Given the description of an element on the screen output the (x, y) to click on. 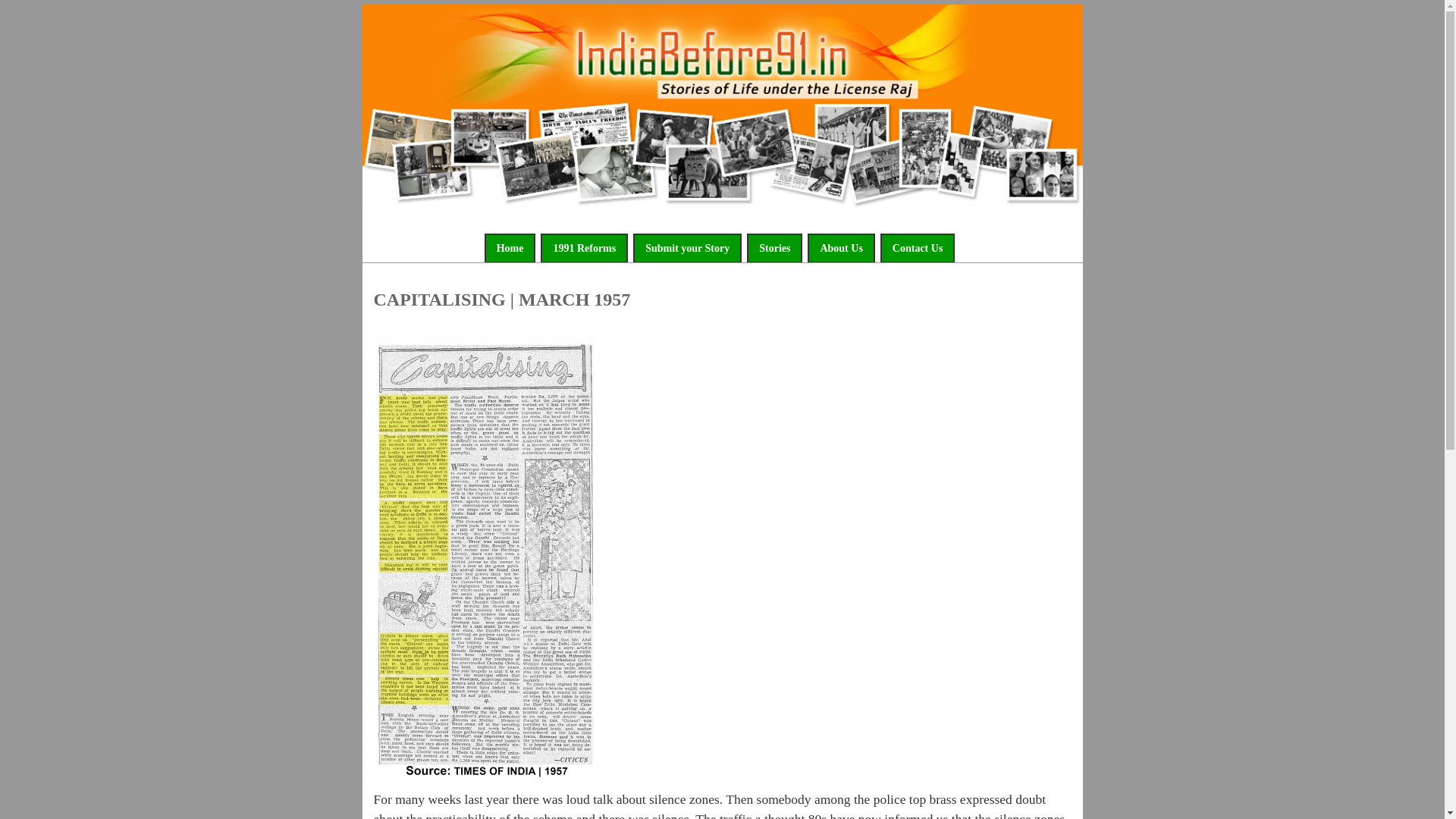
1991 Reforms (583, 247)
Contact Us (917, 247)
Home (722, 203)
About Us (841, 247)
Stories (774, 247)
Home (509, 247)
Submit your Story (687, 247)
